Given the description of an element on the screen output the (x, y) to click on. 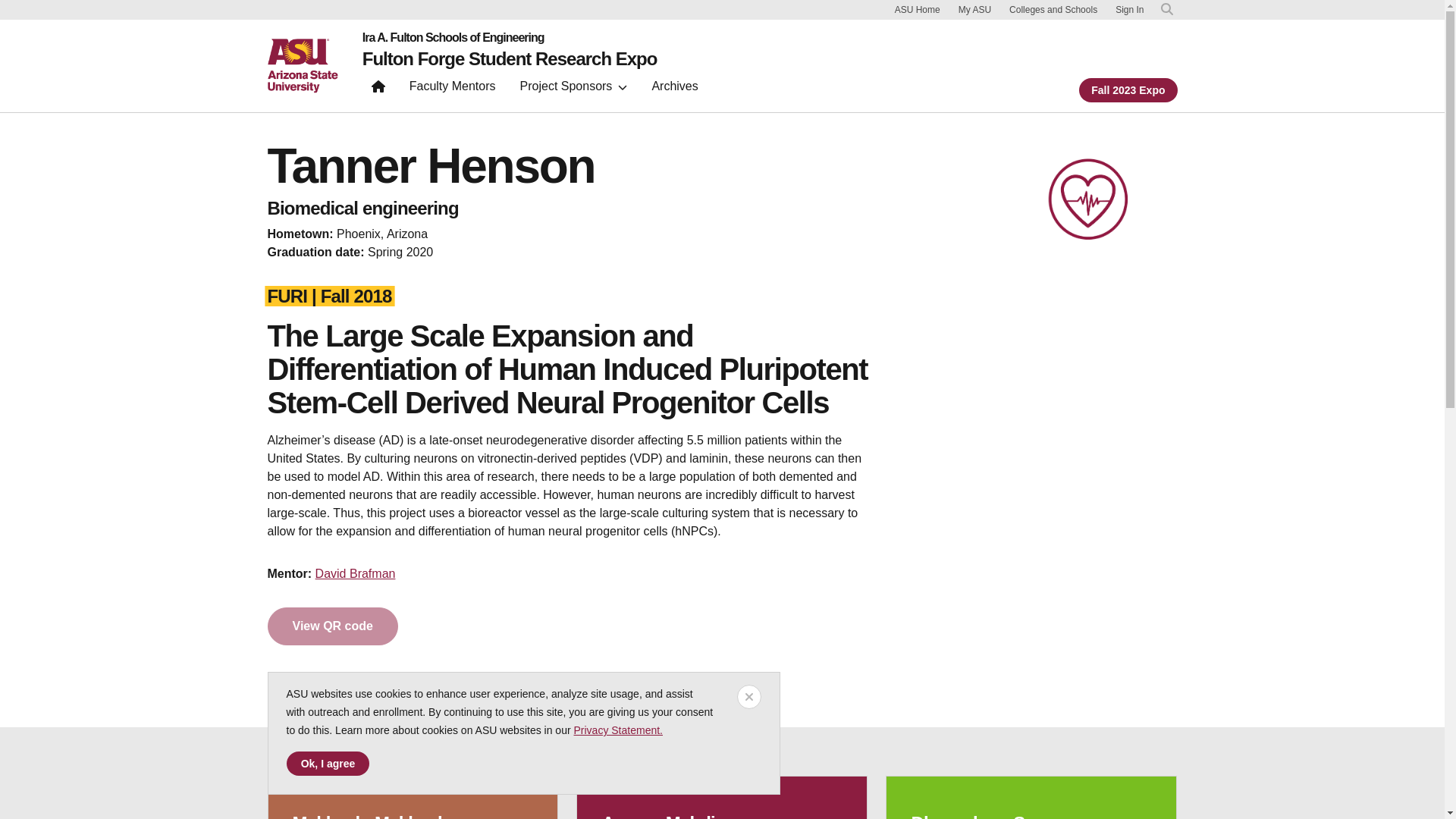
View QR code (331, 626)
Faculty Mentors (452, 89)
Faculty Mentors (452, 89)
My ASU (974, 9)
Sign In (1128, 9)
Fall 2023 Expo (1127, 88)
Ira A. Fulton Schools of Engineering (510, 37)
Project Sponsors (574, 89)
Archives (674, 89)
David Brafman (355, 573)
ASU home page (301, 65)
Fulton Forge Student Research Expo home page (510, 58)
Project Sponsors (574, 89)
Fulton Forge Student Research Expo (510, 58)
